Given the description of an element on the screen output the (x, y) to click on. 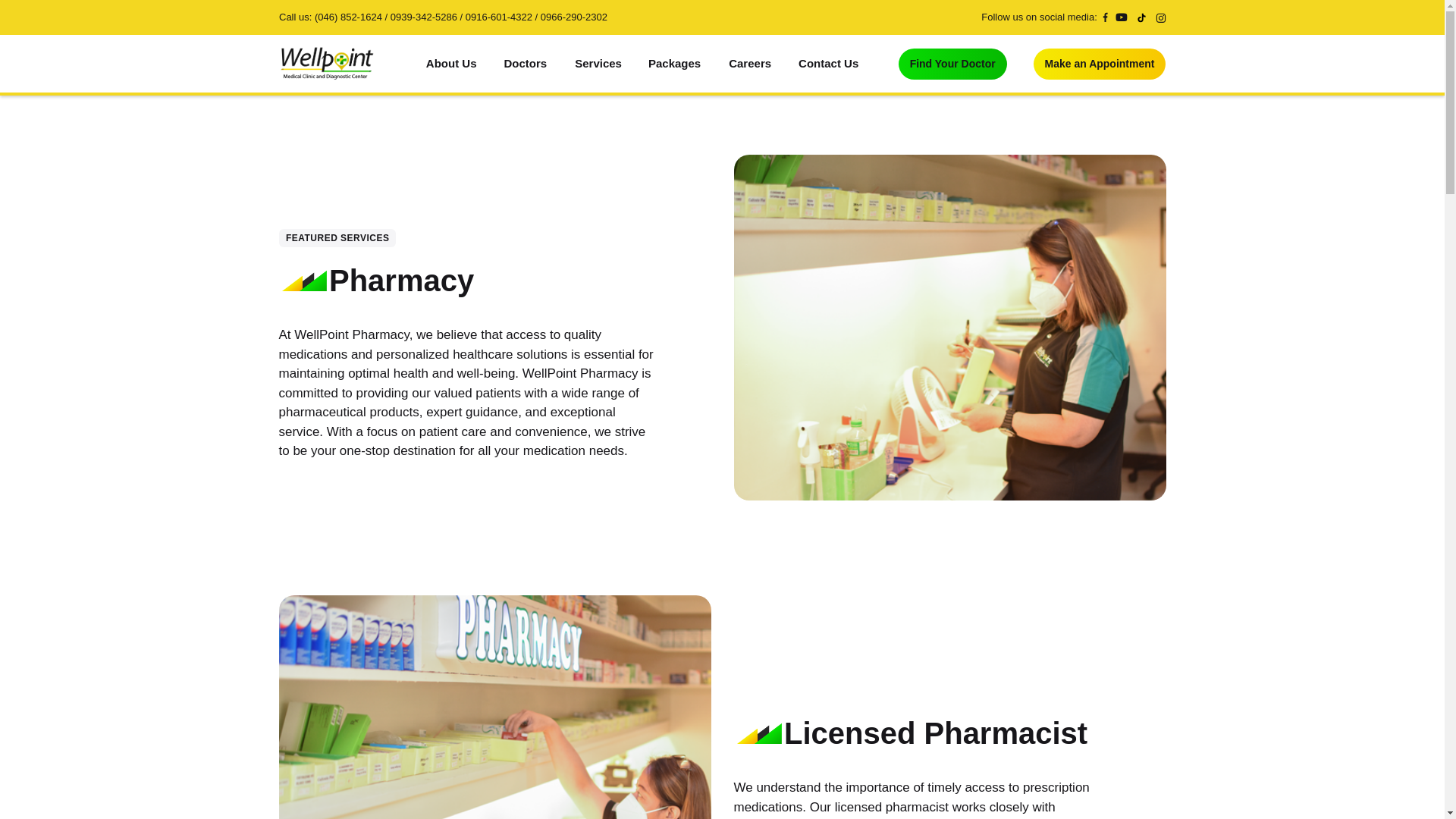
Make an Appointment (1099, 63)
Careers (749, 63)
Doctors (525, 63)
Services (597, 63)
Find Your Doctor (952, 63)
Contact Us (828, 63)
Follow us on social media:   (1044, 17)
About Us (451, 63)
Packages (674, 63)
